Given the description of an element on the screen output the (x, y) to click on. 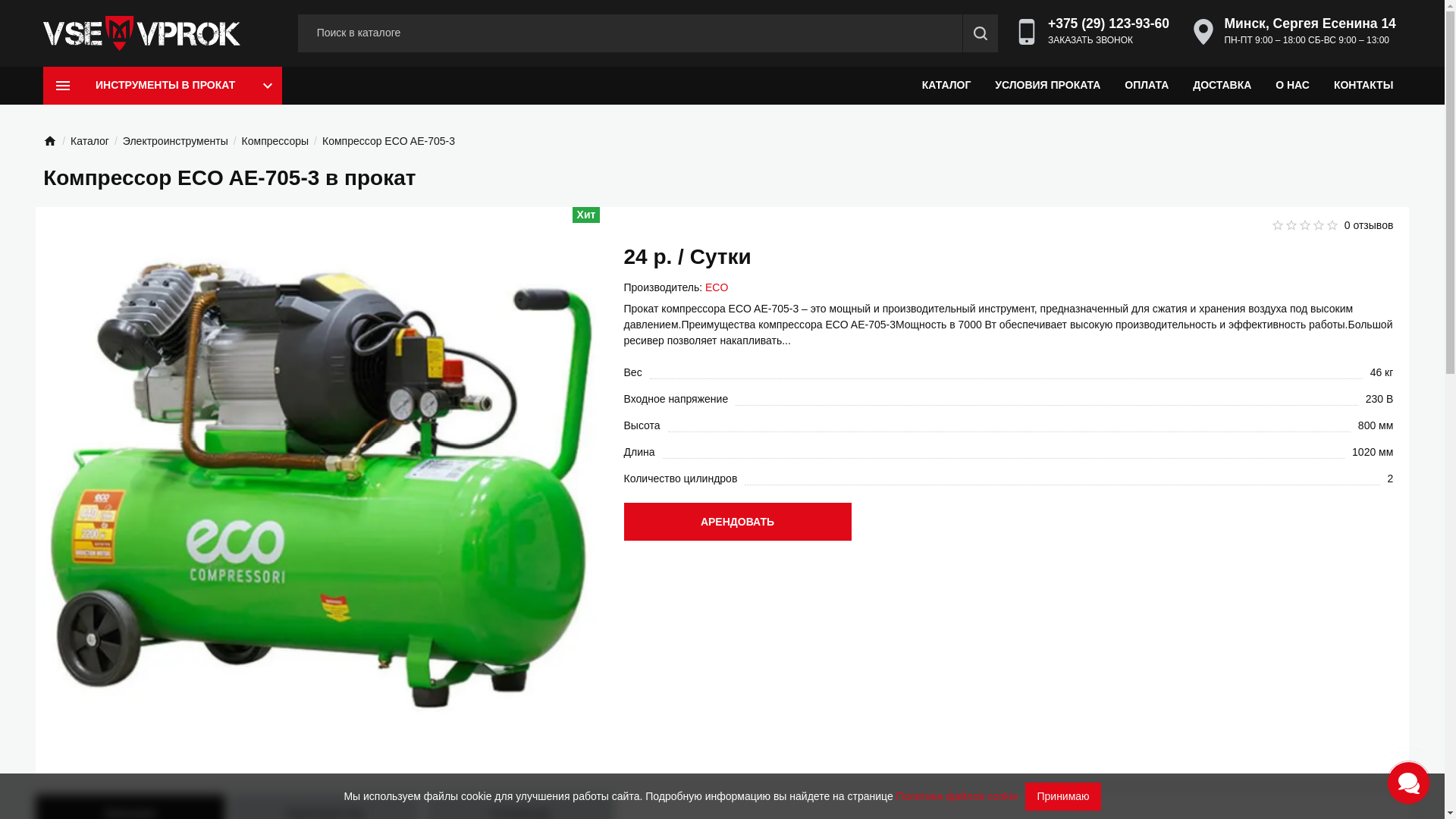
ECO Element type: text (716, 287)
+375 (29) 123-93-60 Element type: text (1108, 23)
